Given the description of an element on the screen output the (x, y) to click on. 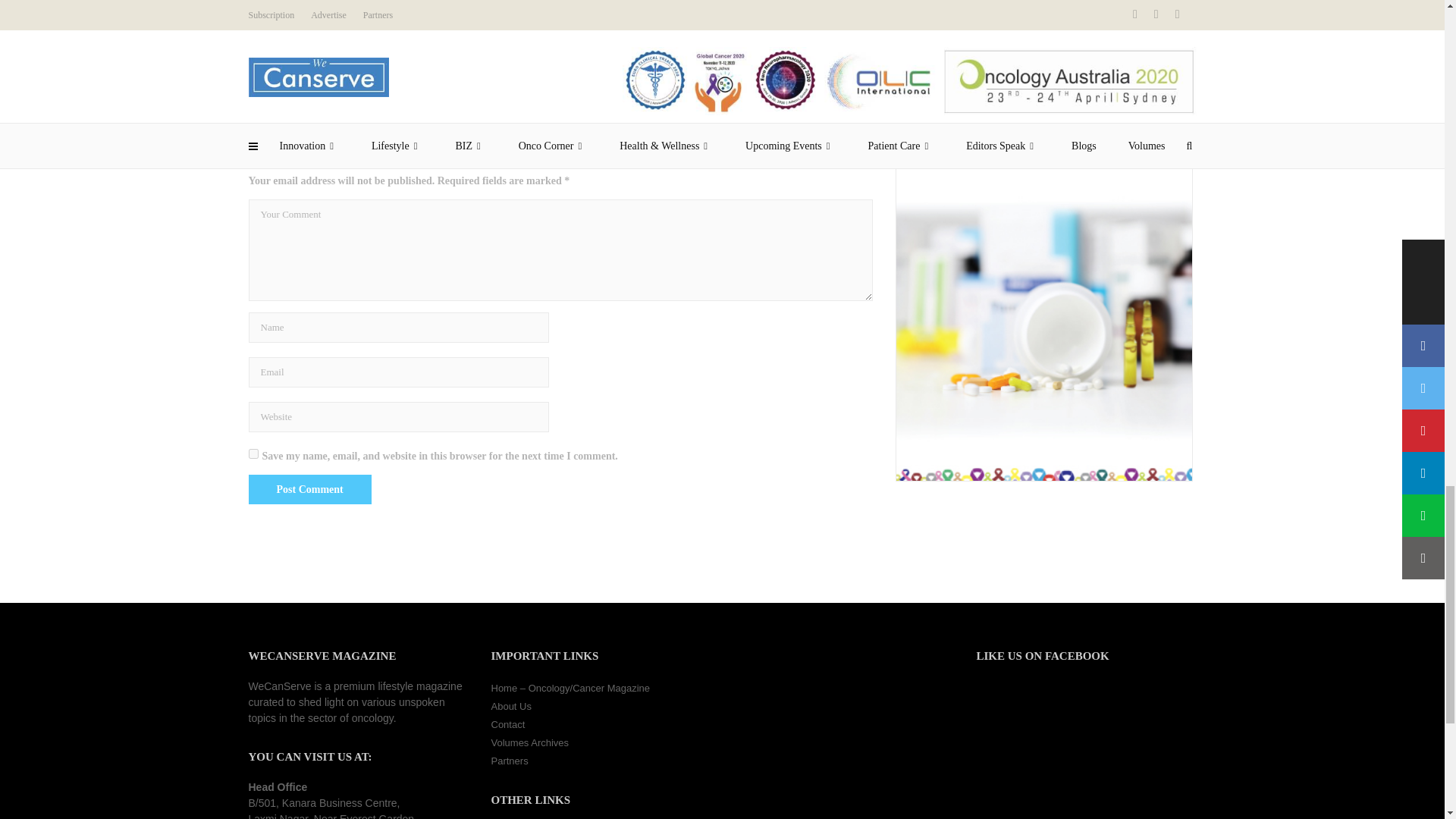
yes (253, 453)
Post Comment (309, 489)
